Given the description of an element on the screen output the (x, y) to click on. 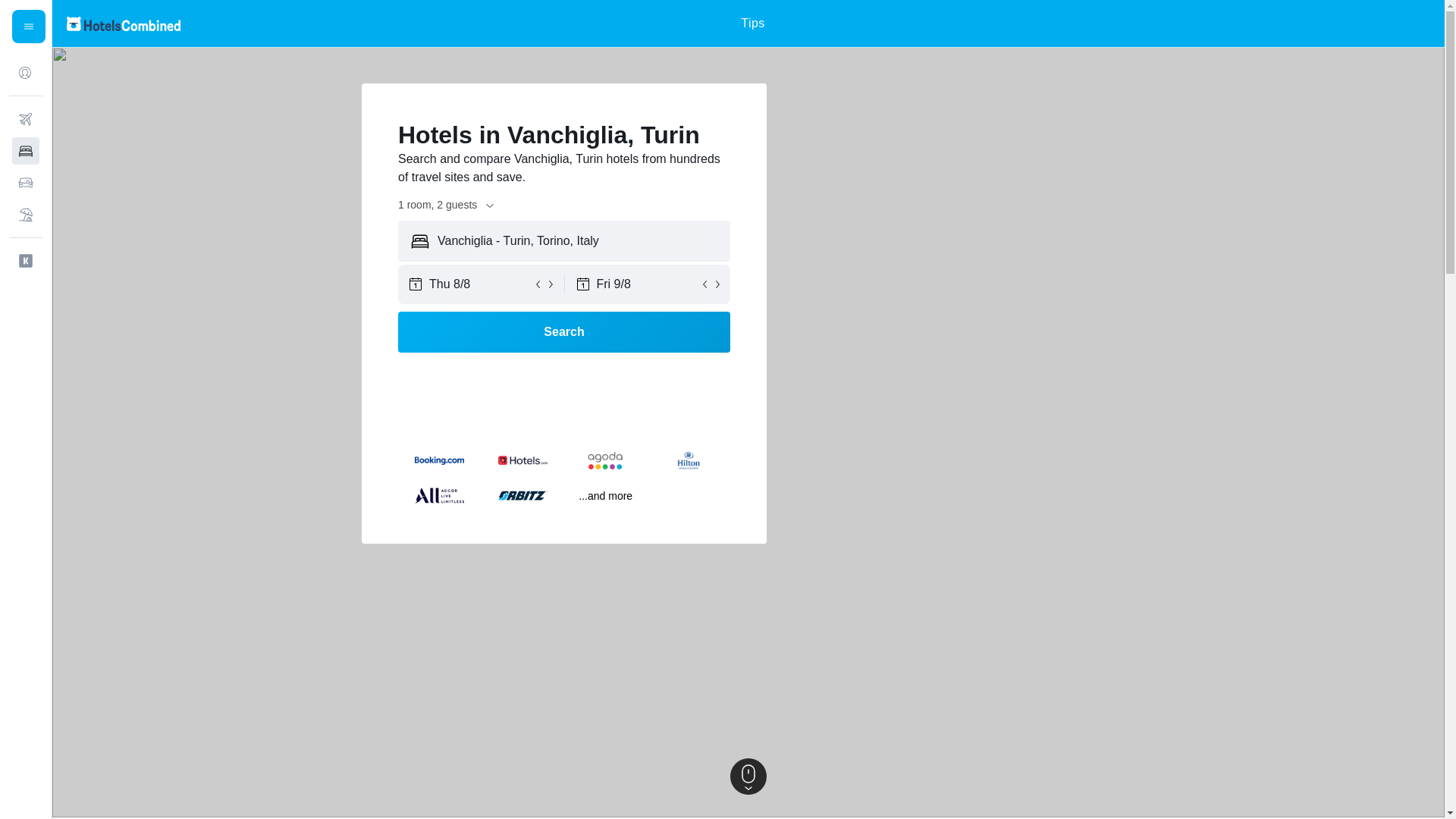
1 room, 2 guests (446, 205)
Search (563, 332)
Search (563, 332)
